Given the description of an element on the screen output the (x, y) to click on. 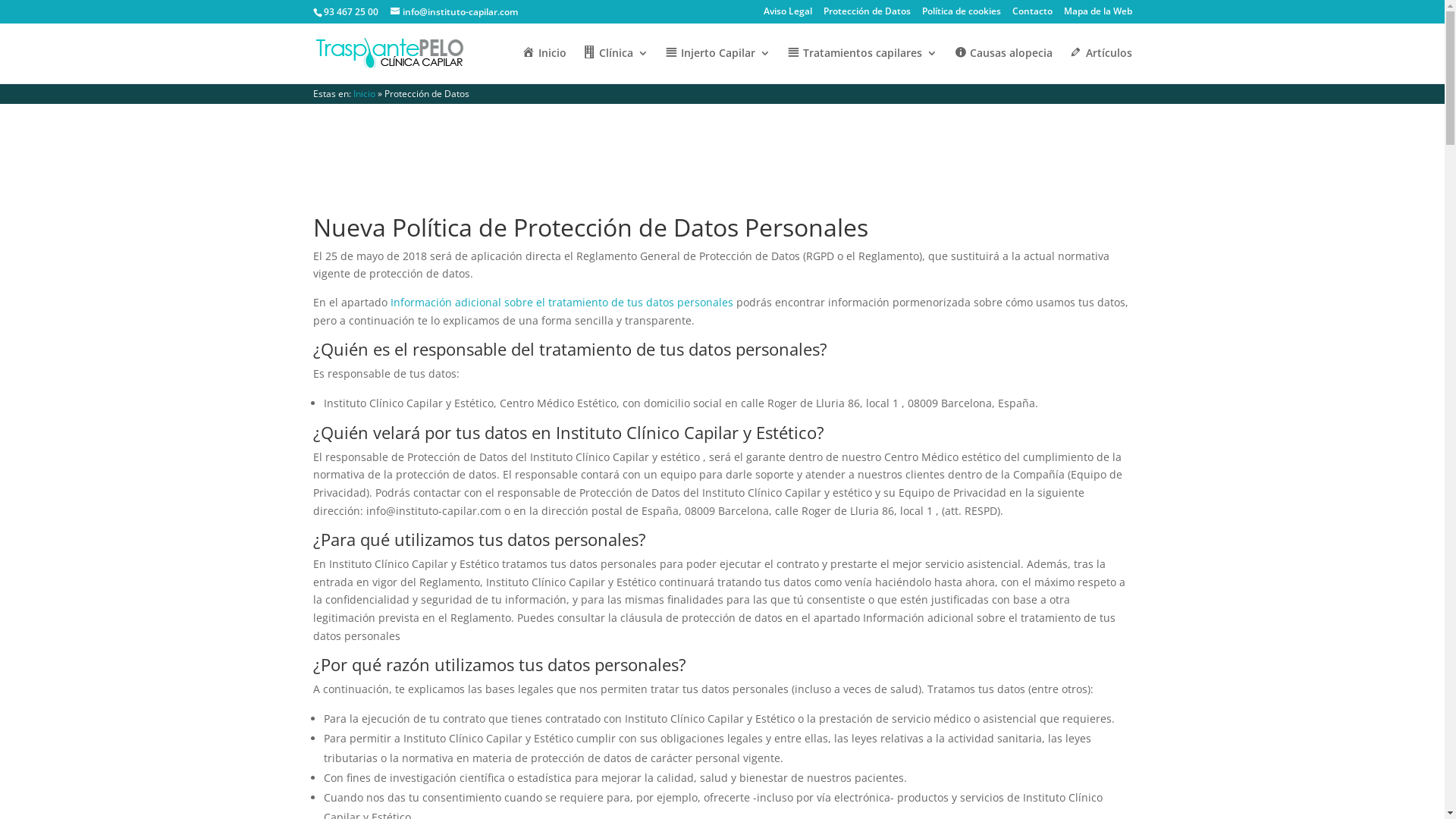
Inicio Element type: text (364, 93)
Injerto Capilar Element type: text (717, 65)
Aviso Legal Element type: text (786, 14)
Tratamientos capilares Element type: text (862, 65)
Mapa de la Web Element type: text (1097, 14)
info@instituto-capilar.com Element type: text (453, 11)
Contacto Element type: text (1031, 14)
Causas alopecia Element type: text (1002, 65)
Inicio Element type: text (543, 65)
